Given the description of an element on the screen output the (x, y) to click on. 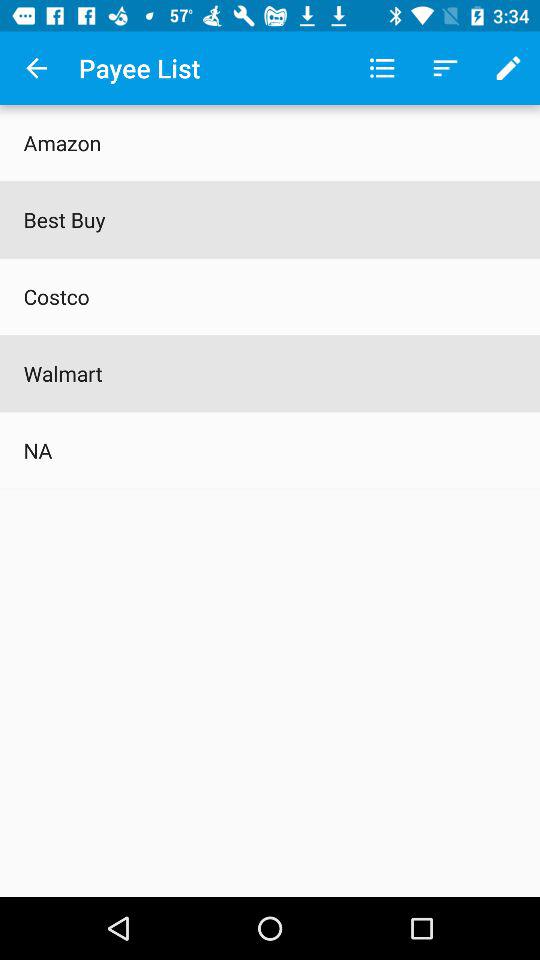
turn on item to the left of payee list app (36, 68)
